Given the description of an element on the screen output the (x, y) to click on. 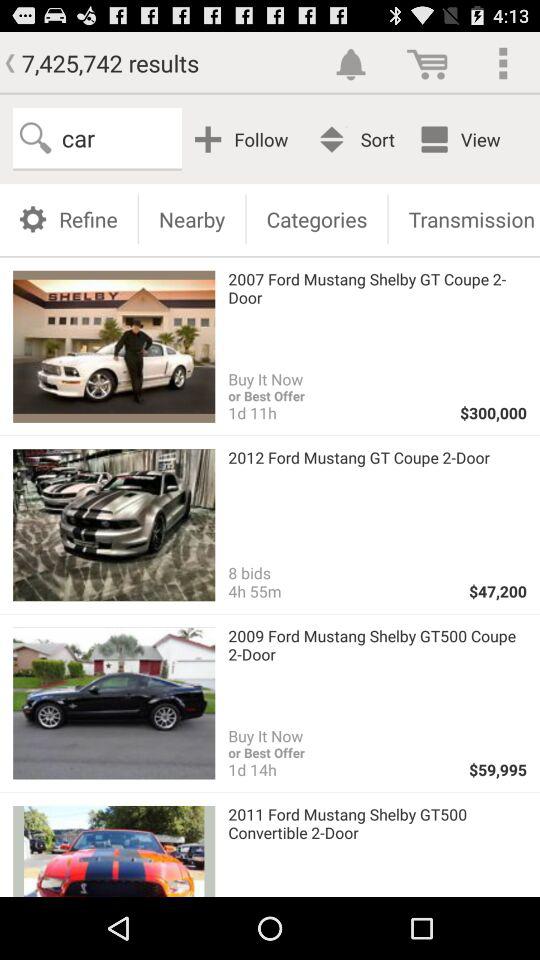
swipe to transmission (464, 218)
